Given the description of an element on the screen output the (x, y) to click on. 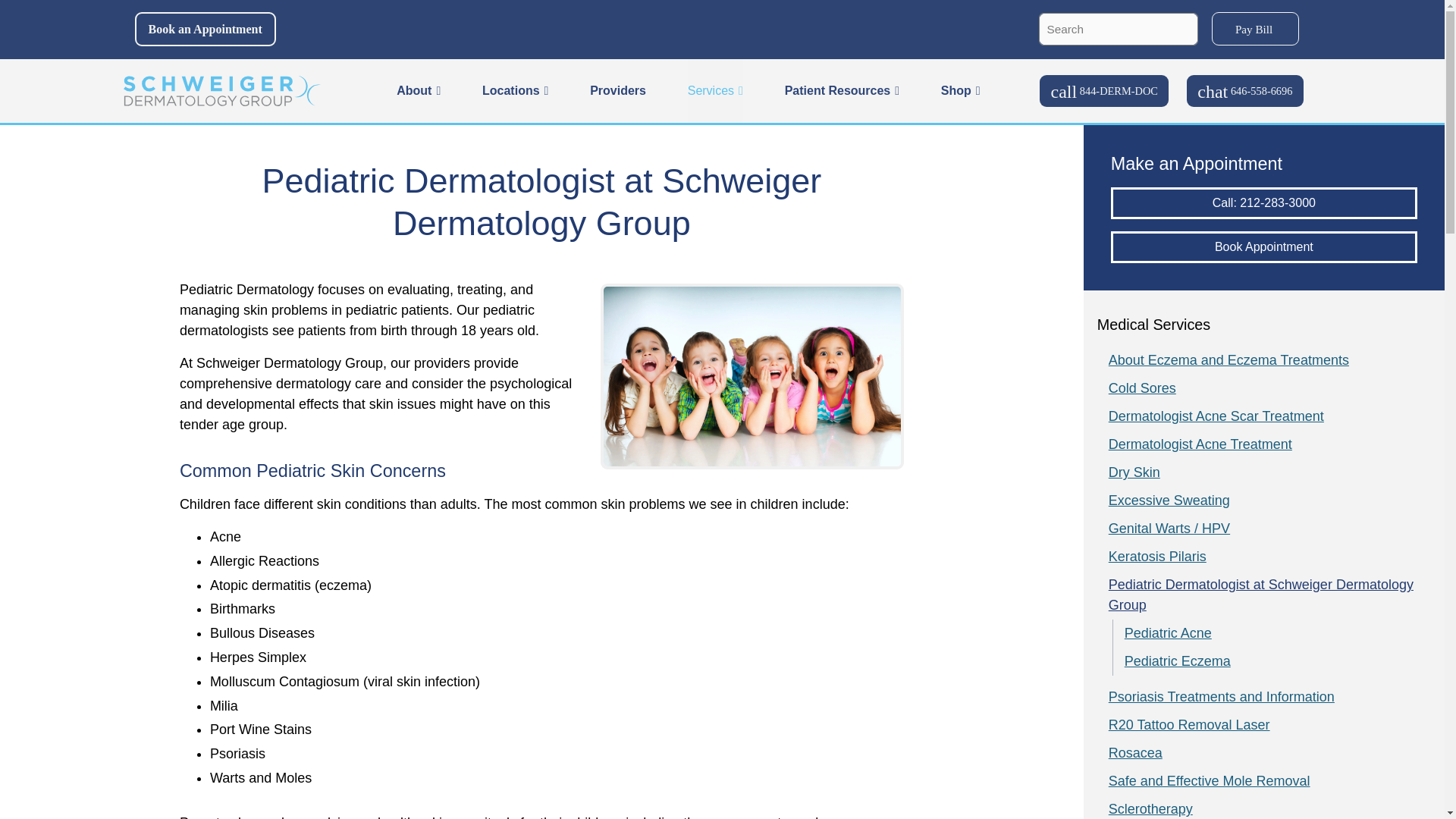
Book an Appointment (205, 28)
Search (1182, 19)
Pay Bill (1254, 28)
Locations (514, 90)
